Given the description of an element on the screen output the (x, y) to click on. 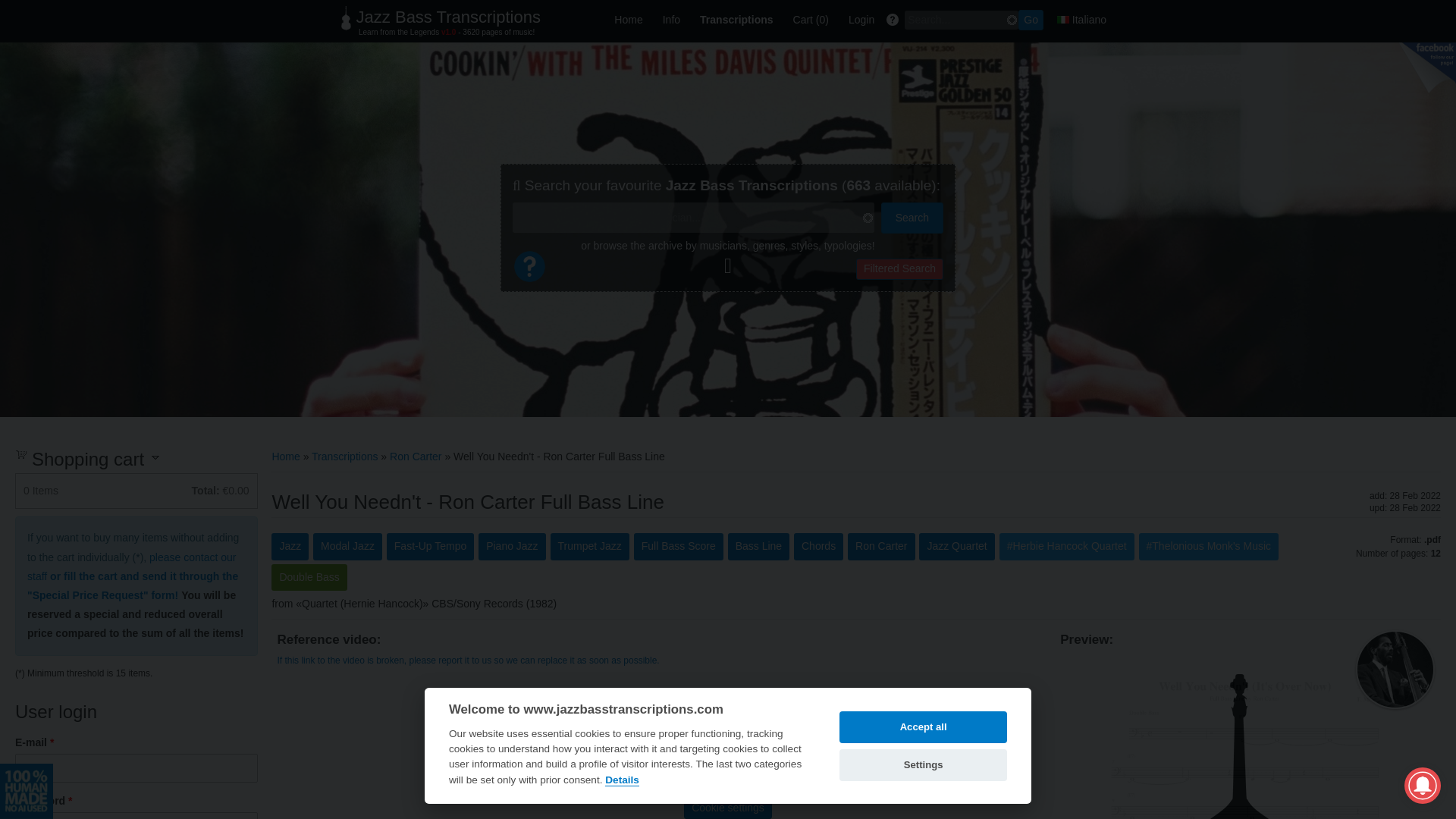
Home (284, 456)
Transcriptions (344, 456)
Go (1030, 19)
Home (448, 16)
Help (529, 279)
Filtered Search (899, 269)
Info (671, 19)
Home (628, 19)
Go (1030, 19)
Jazz Bass Transcriptions (448, 16)
Search (911, 217)
Search (911, 217)
Search: (960, 19)
Login (860, 19)
Go (1030, 19)
